Given the description of an element on the screen output the (x, y) to click on. 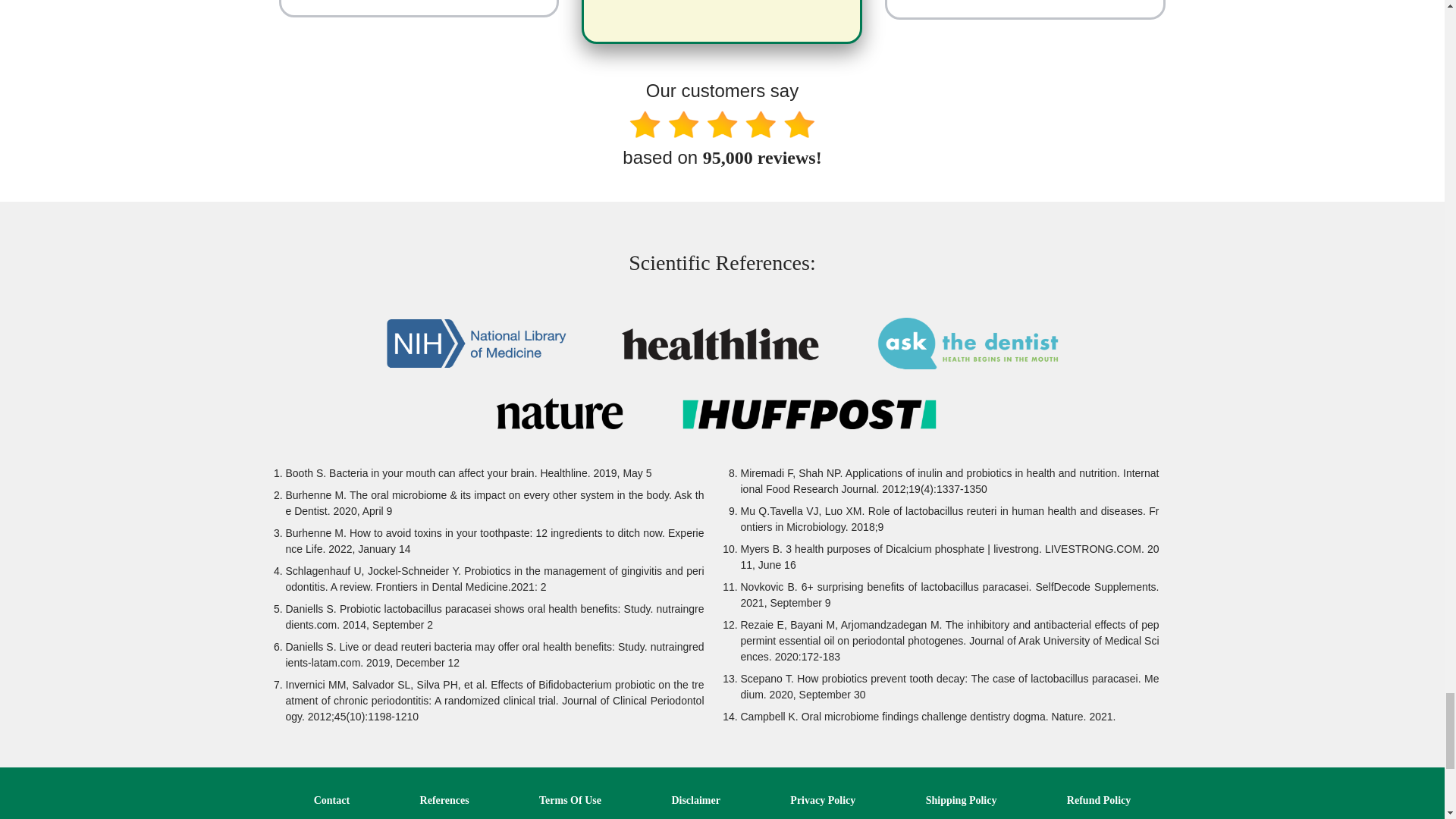
Contact (331, 799)
References (444, 799)
Terms Of Use (569, 799)
